Given the description of an element on the screen output the (x, y) to click on. 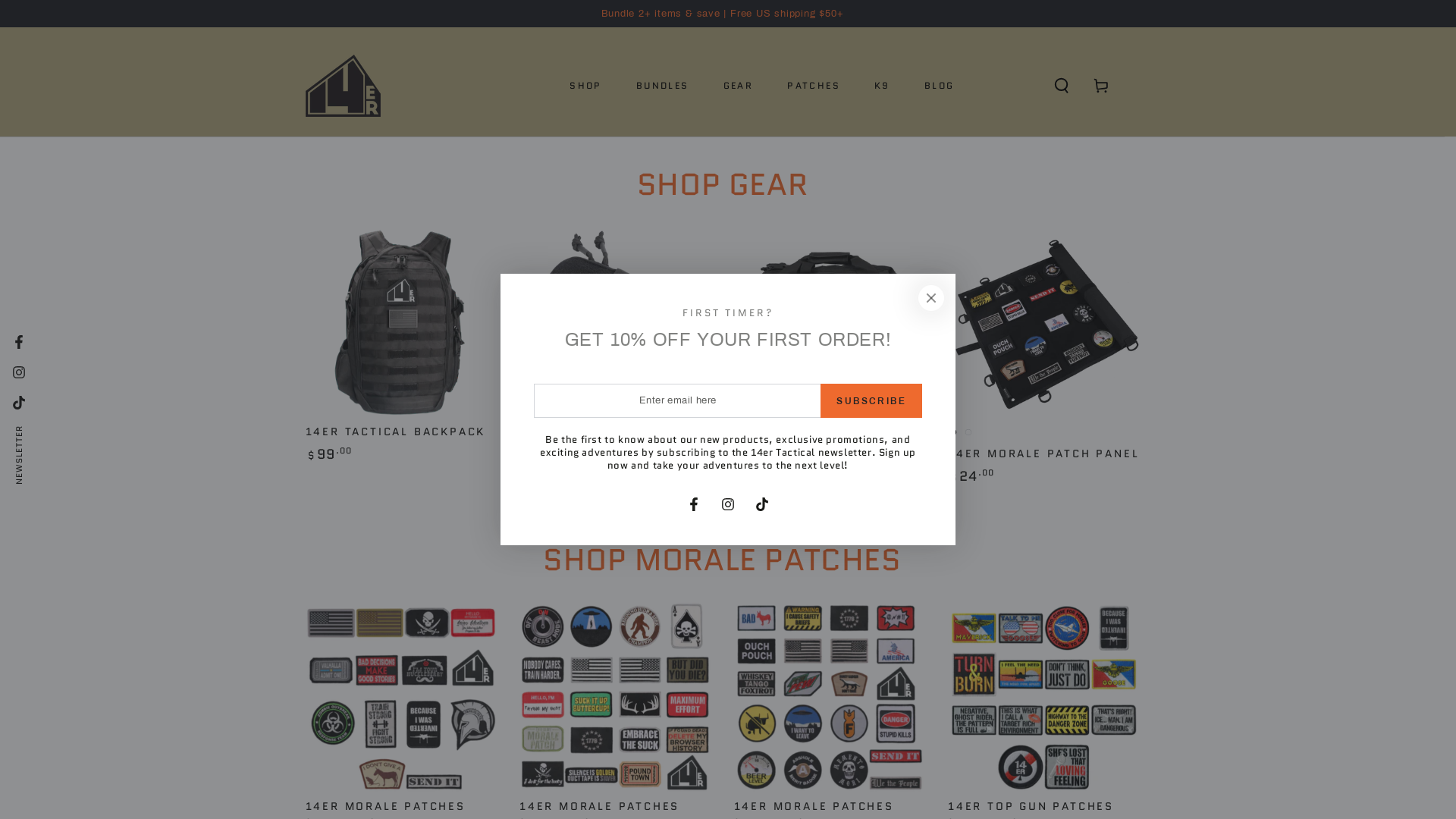
Olive Drab Element type: text (754, 431)
Wolf Grey Element type: text (539, 431)
14ER MORALE PATCH PANEL Element type: text (1043, 453)
GEAR Element type: text (738, 85)
14er Morale Patch Panel Element type: text (1043, 355)
Facebook Element type: text (18, 341)
14er IFAK Pouch Element type: text (615, 355)
Bundle 2+ items & save | Free US shipping $50+ Element type: text (722, 13)
Black Element type: text (739, 431)
14ER RANGE BAG Element type: text (792, 453)
Instagram Element type: text (18, 372)
K9 Element type: text (881, 85)
SUBSCRIBE Element type: text (871, 400)
Coyote Element type: text (968, 431)
BUNDLES Element type: text (662, 85)
Black Element type: text (524, 431)
14er Tactical Backpack Element type: text (400, 344)
Black Element type: text (952, 431)
TikTok Element type: text (761, 504)
BLOG Element type: text (939, 85)
14er RANGE BAG Element type: text (829, 355)
Facebook Element type: text (693, 504)
PATCHES Element type: text (813, 85)
SHOP Element type: text (585, 85)
14ER IFAK POUCH Element type: text (580, 453)
TikTok Element type: text (18, 402)
14ER TACTICAL BACKPACK Element type: text (394, 431)
Instagram Element type: text (727, 504)
